Given the description of an element on the screen output the (x, y) to click on. 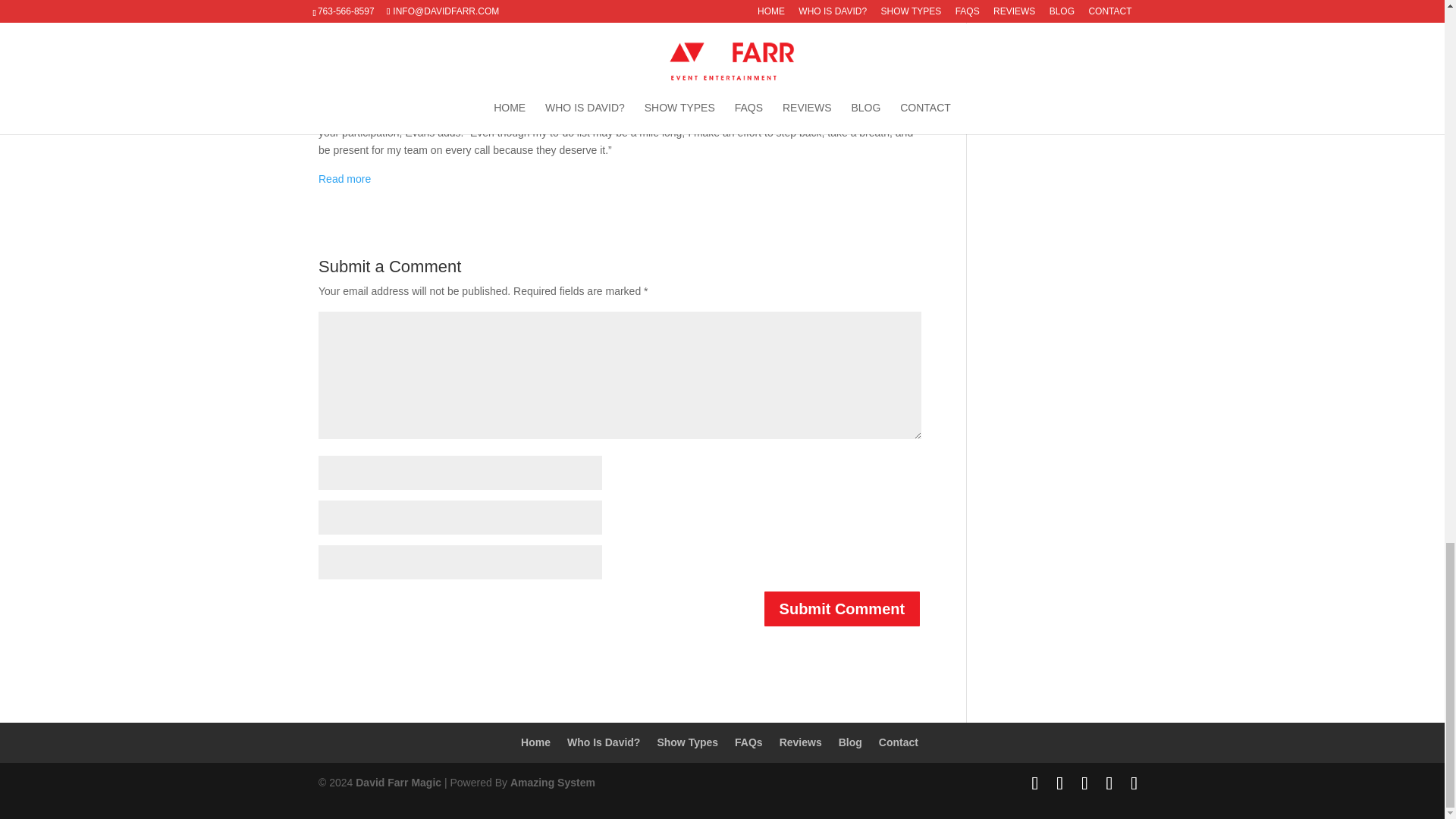
Submit Comment (841, 608)
Home (535, 742)
Submit Comment (841, 608)
Read more (344, 178)
